Given the description of an element on the screen output the (x, y) to click on. 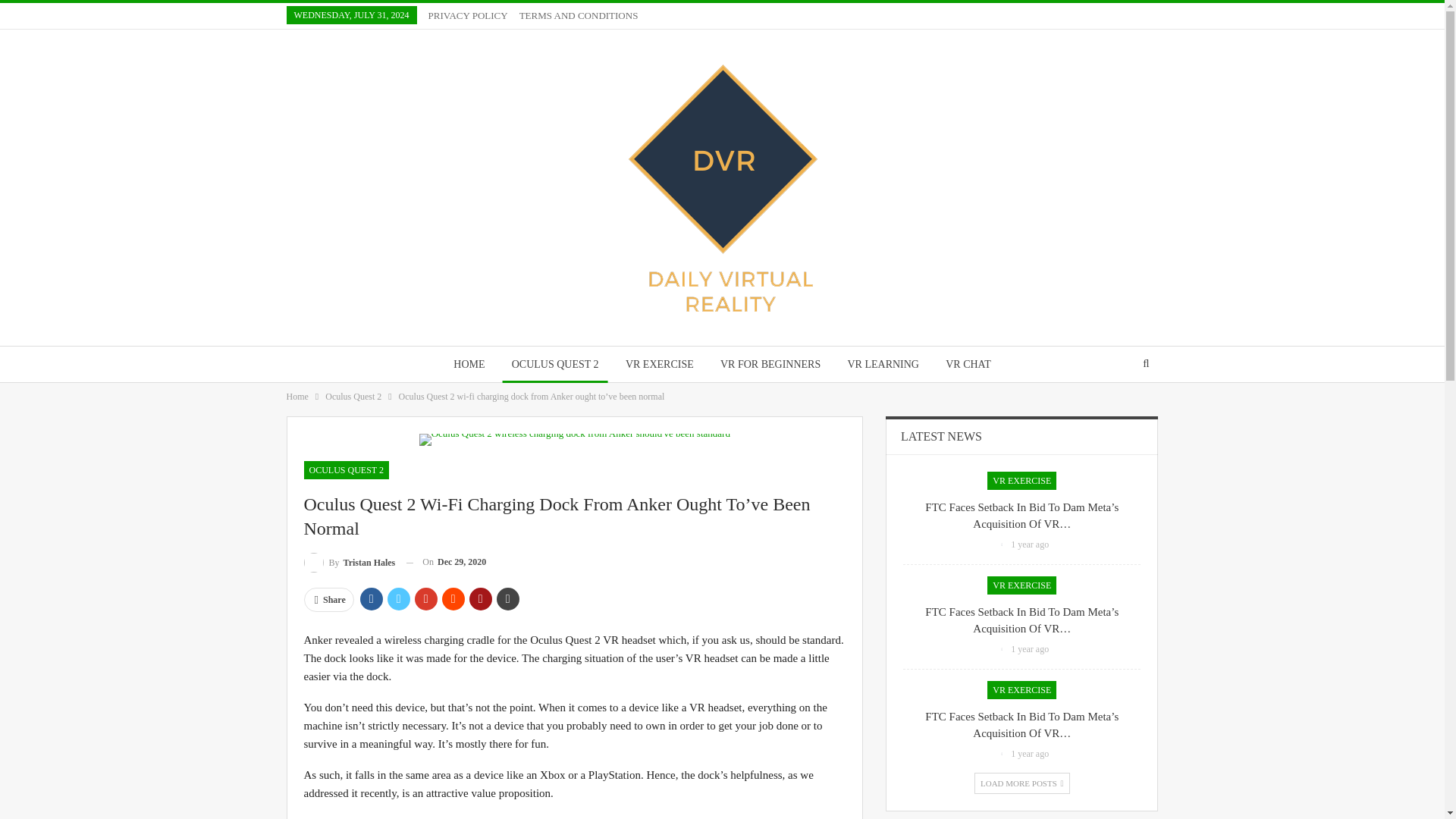
By Tristan Hales (348, 562)
VR EXERCISE (659, 364)
Browse Author Articles (1002, 753)
Browse Author Articles (348, 562)
Home (297, 396)
Load More Posts (1022, 783)
VR LEARNING (883, 364)
HOME (468, 364)
PRIVACY POLICY (468, 15)
TERMS AND CONDITIONS (579, 15)
Browse Author Articles (1002, 543)
OCULUS QUEST 2 (555, 364)
OCULUS QUEST 2 (345, 470)
VR FOR BEGINNERS (770, 364)
Oculus Quest 2 (352, 396)
